Given the description of an element on the screen output the (x, y) to click on. 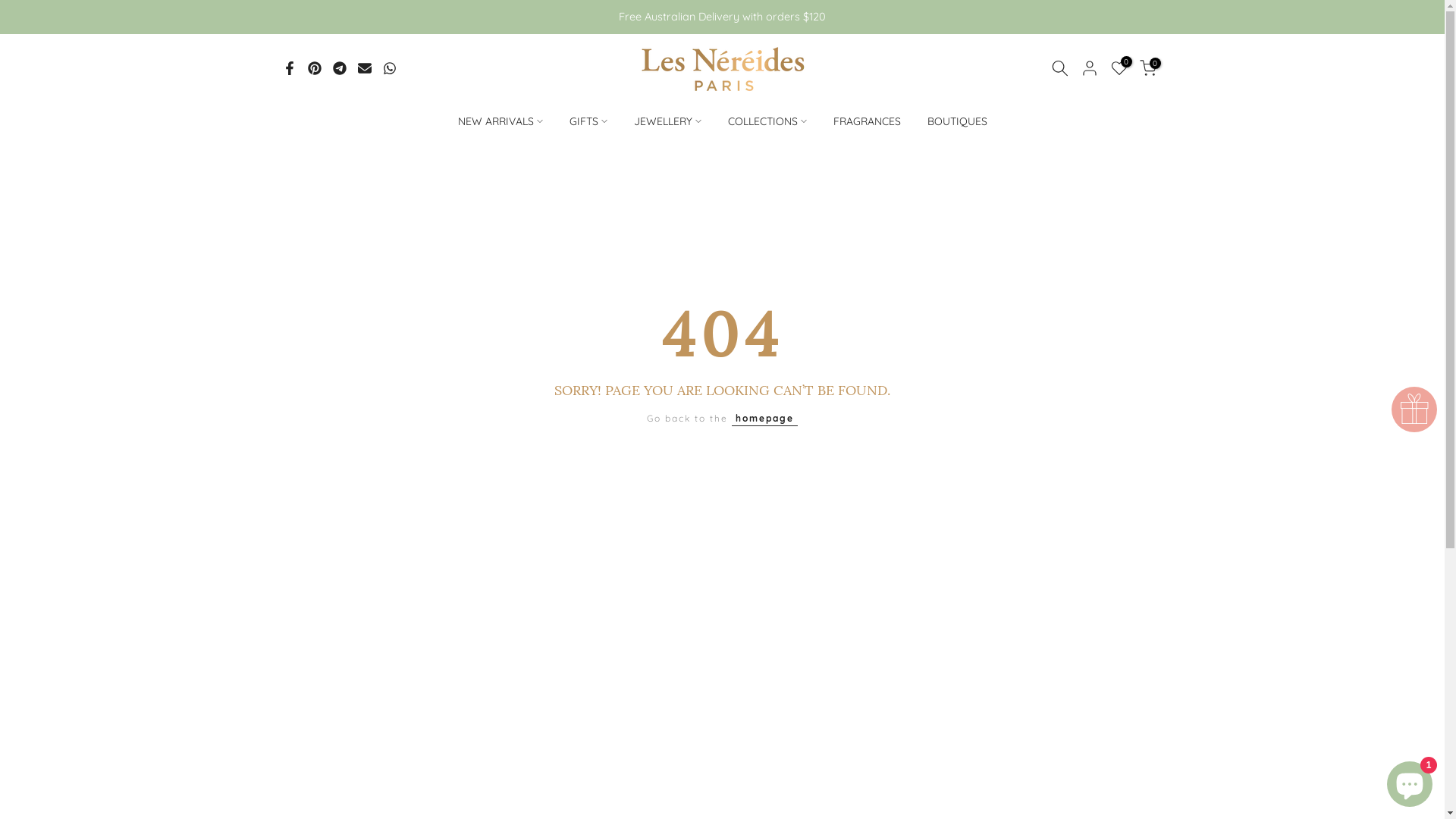
BOUTIQUES Element type: text (956, 121)
Share on Telegram Element type: hover (338, 68)
homepage Element type: text (764, 418)
Share on Email Element type: hover (364, 68)
Share on WhatsApp Element type: hover (388, 68)
COLLECTIONS Element type: text (766, 121)
Shopify online store chat Element type: hover (1409, 780)
Share on Facebook Element type: hover (288, 68)
JEWELLERY Element type: text (667, 121)
GIFTS Element type: text (587, 121)
FRAGRANCES Element type: text (866, 121)
Share on Pinterest Element type: hover (314, 68)
0 Element type: text (1147, 67)
0 Element type: text (1118, 67)
NEW ARRIVALS Element type: text (499, 121)
